Given the description of an element on the screen output the (x, y) to click on. 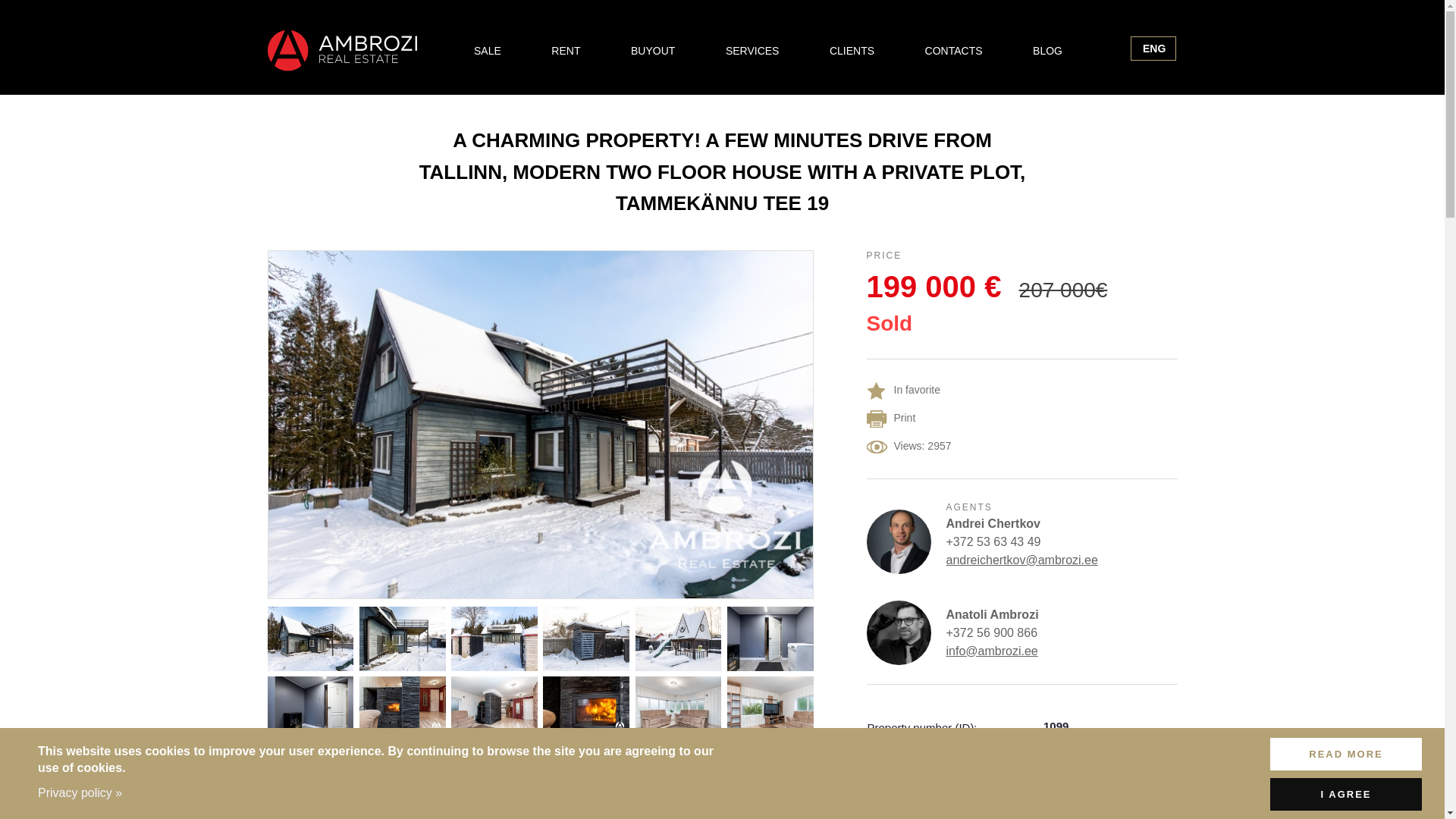
SERVICES (751, 50)
RENT (565, 50)
BUYOUT (652, 50)
BLOG (1047, 50)
SALE (486, 50)
CONTACTS (953, 50)
CLIENTS (850, 50)
